Given the description of an element on the screen output the (x, y) to click on. 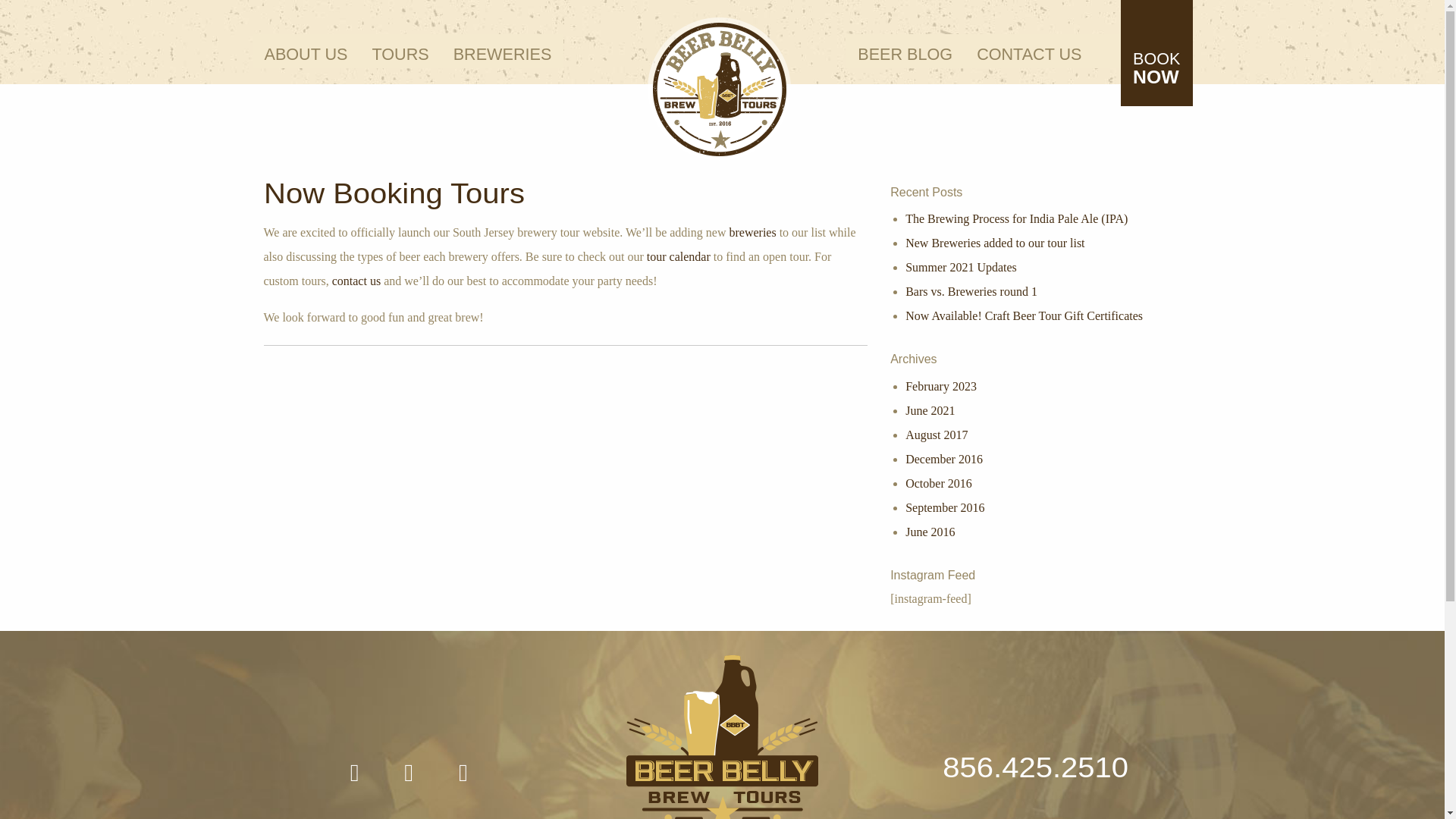
tour calendar (678, 256)
February 2023 (940, 386)
Bars vs. Breweries round 1 (970, 291)
June 2021 (930, 410)
Beer Belly Brew Tours on X Twitter (408, 772)
Beer Belly Brew Tours on Facebook (354, 772)
June 2016 (930, 531)
BEER BLOG (904, 50)
September 2016 (944, 507)
contact us (355, 280)
October 2016 (938, 482)
CONTACT US (1028, 50)
Beer Belly Brew Tours on Instagram (463, 772)
BREWERIES (502, 50)
TOURS (400, 50)
